Given the description of an element on the screen output the (x, y) to click on. 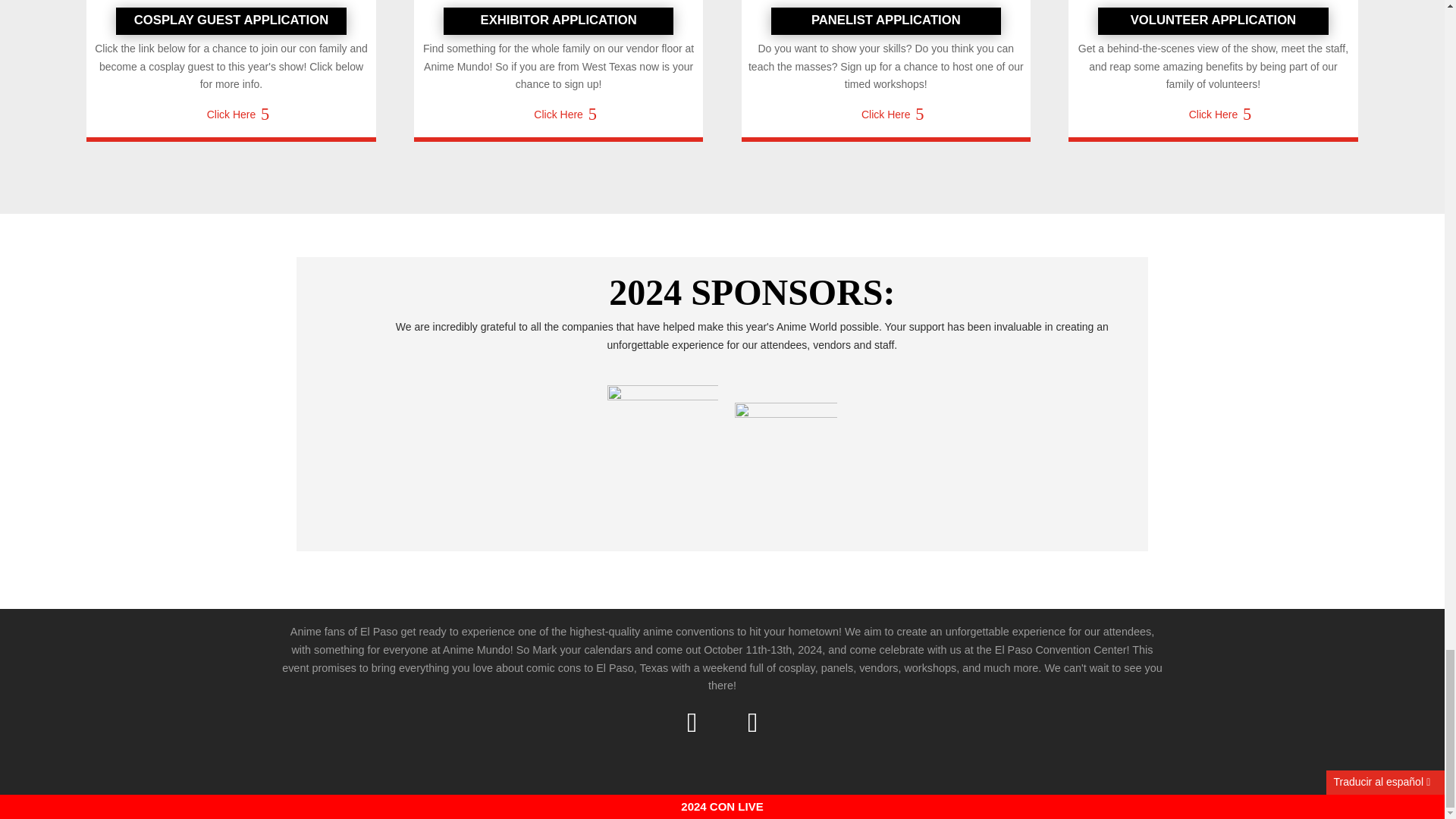
Click Here (1214, 115)
Click Here (231, 121)
Click Here (558, 115)
Click Here (886, 115)
